Given the description of an element on the screen output the (x, y) to click on. 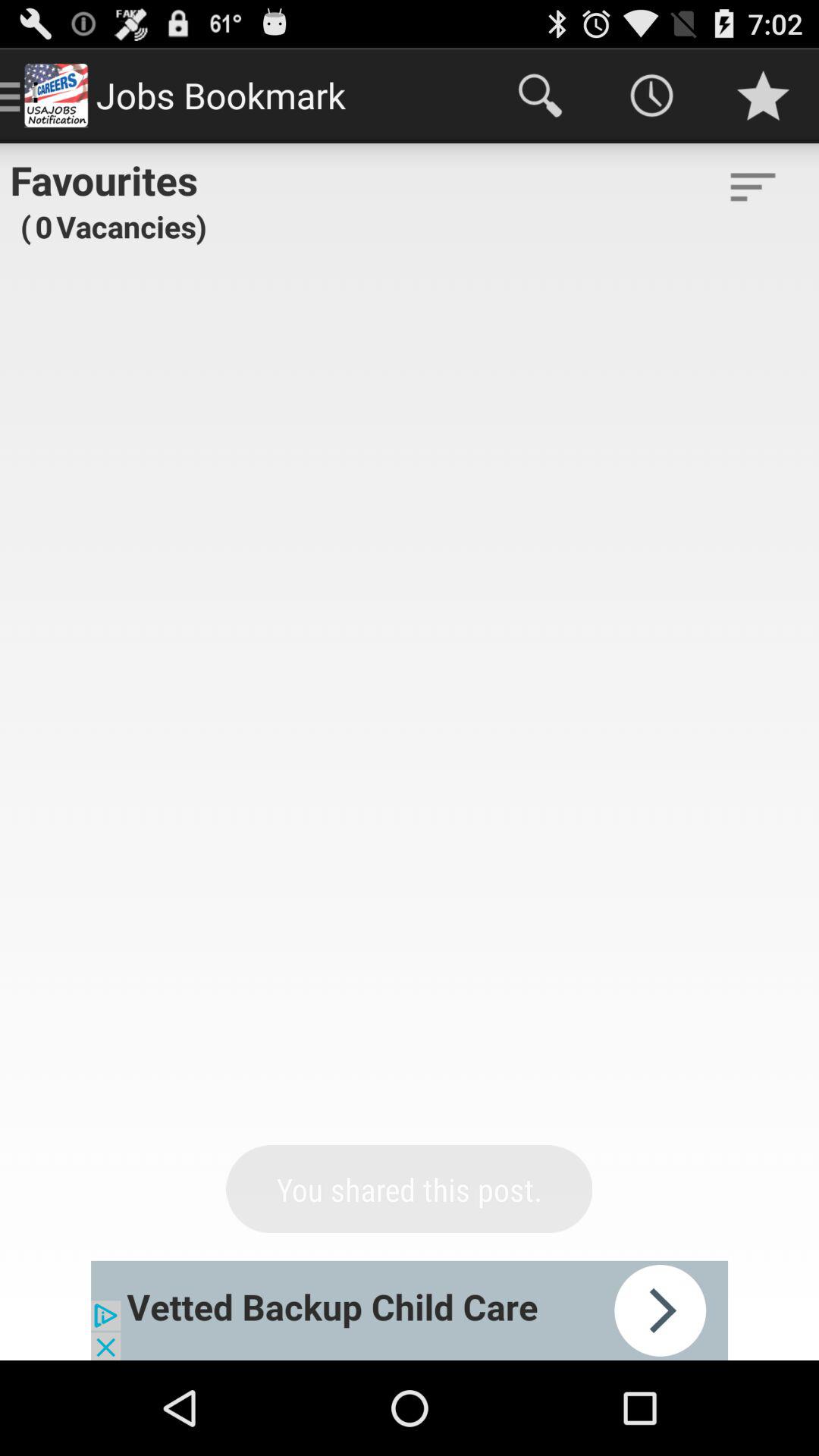
advertisement banner (409, 1310)
